Given the description of an element on the screen output the (x, y) to click on. 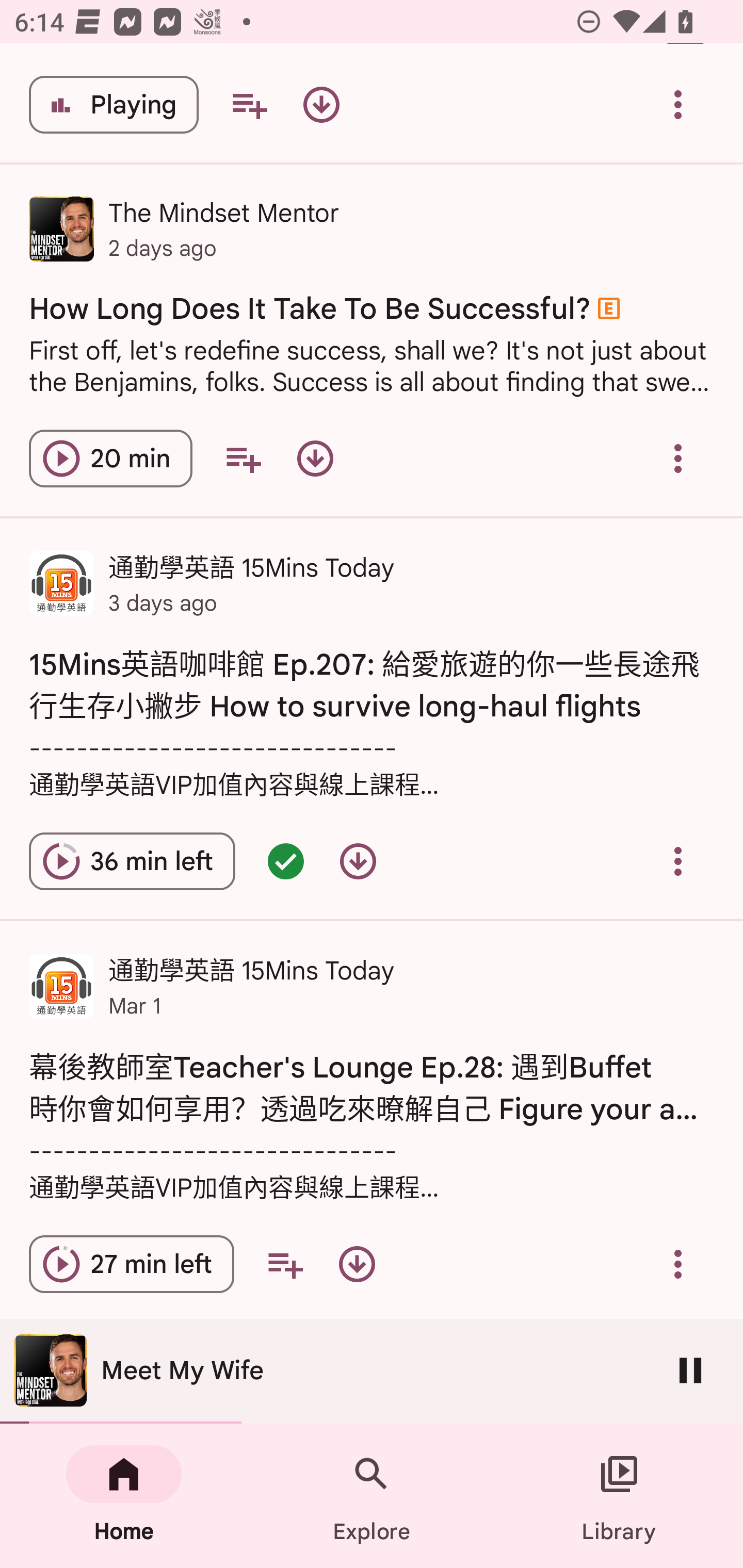
Pause episode Meet My Wife Playing (113, 104)
Add to your queue (249, 104)
Download episode (321, 104)
Overflow menu (677, 104)
Add to your queue (242, 458)
Download episode (315, 458)
Overflow menu (677, 458)
Episode queued - double tap for options (285, 861)
Download episode (357, 861)
Overflow menu (677, 861)
Add to your queue (284, 1264)
Download episode (356, 1264)
Overflow menu (677, 1264)
The Mindset Mentor The Mindset Mentor Feb 29 (371, 1373)
Pause (690, 1370)
Explore (371, 1495)
Library (619, 1495)
